Given the description of an element on the screen output the (x, y) to click on. 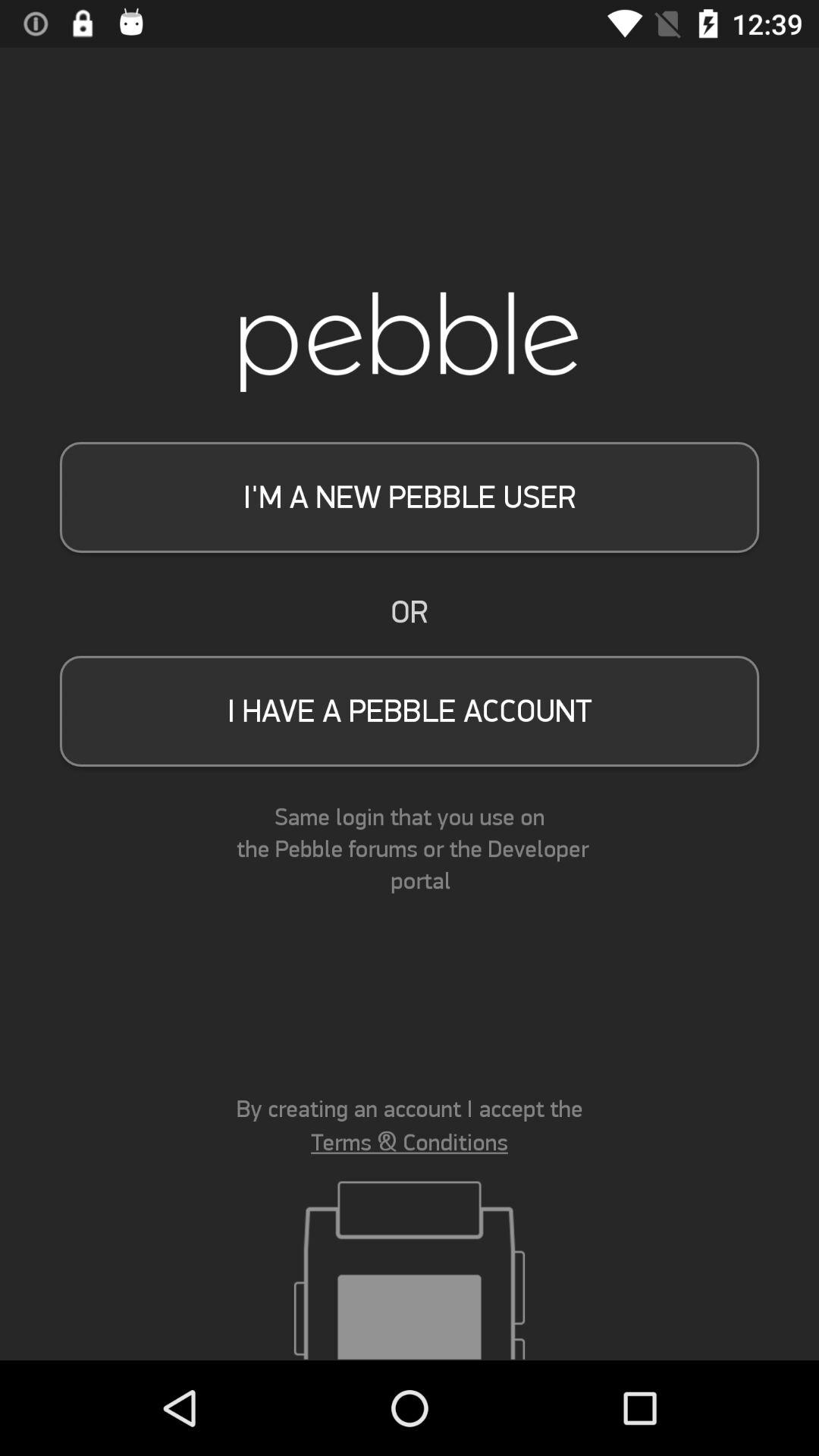
open i m a (409, 496)
